Given the description of an element on the screen output the (x, y) to click on. 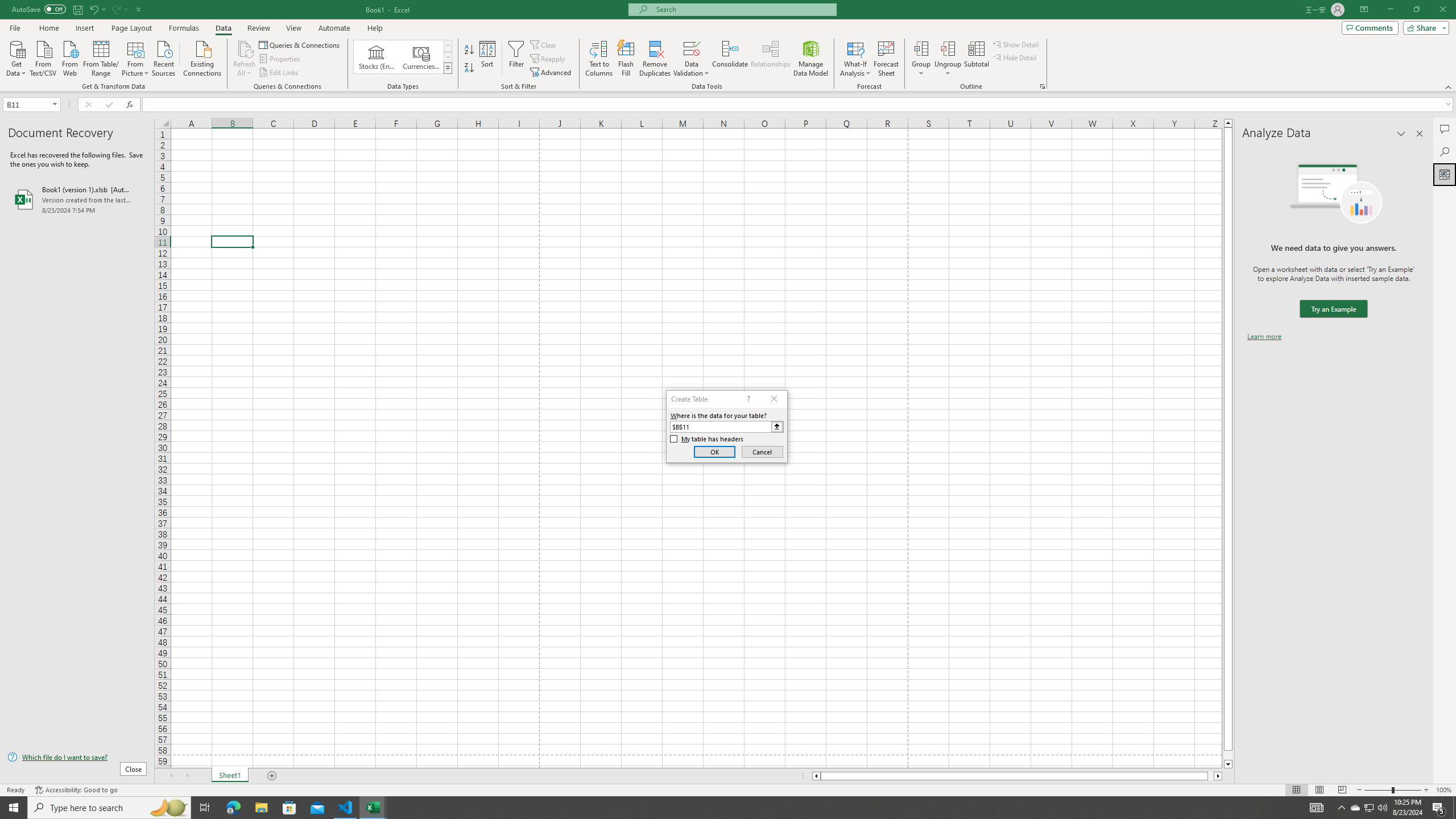
We need data to give you answers. Try an Example (1333, 308)
